Given the description of an element on the screen output the (x, y) to click on. 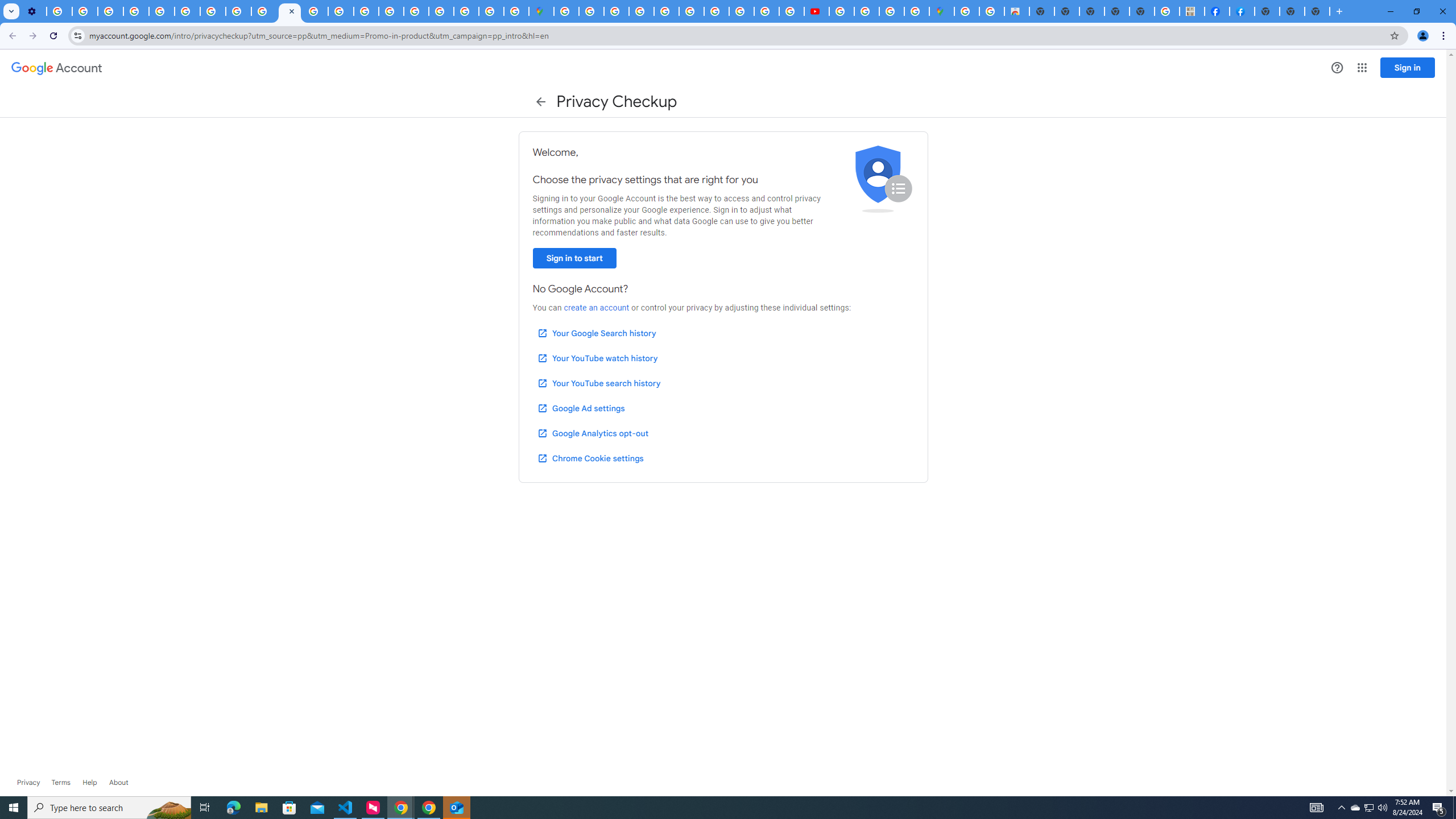
Chrome Web Store - Shopping (1016, 11)
Sign in - Google Accounts (440, 11)
New Tab (1317, 11)
Google Analytics opt-out (592, 433)
Google Maps (941, 11)
